Given the description of an element on the screen output the (x, y) to click on. 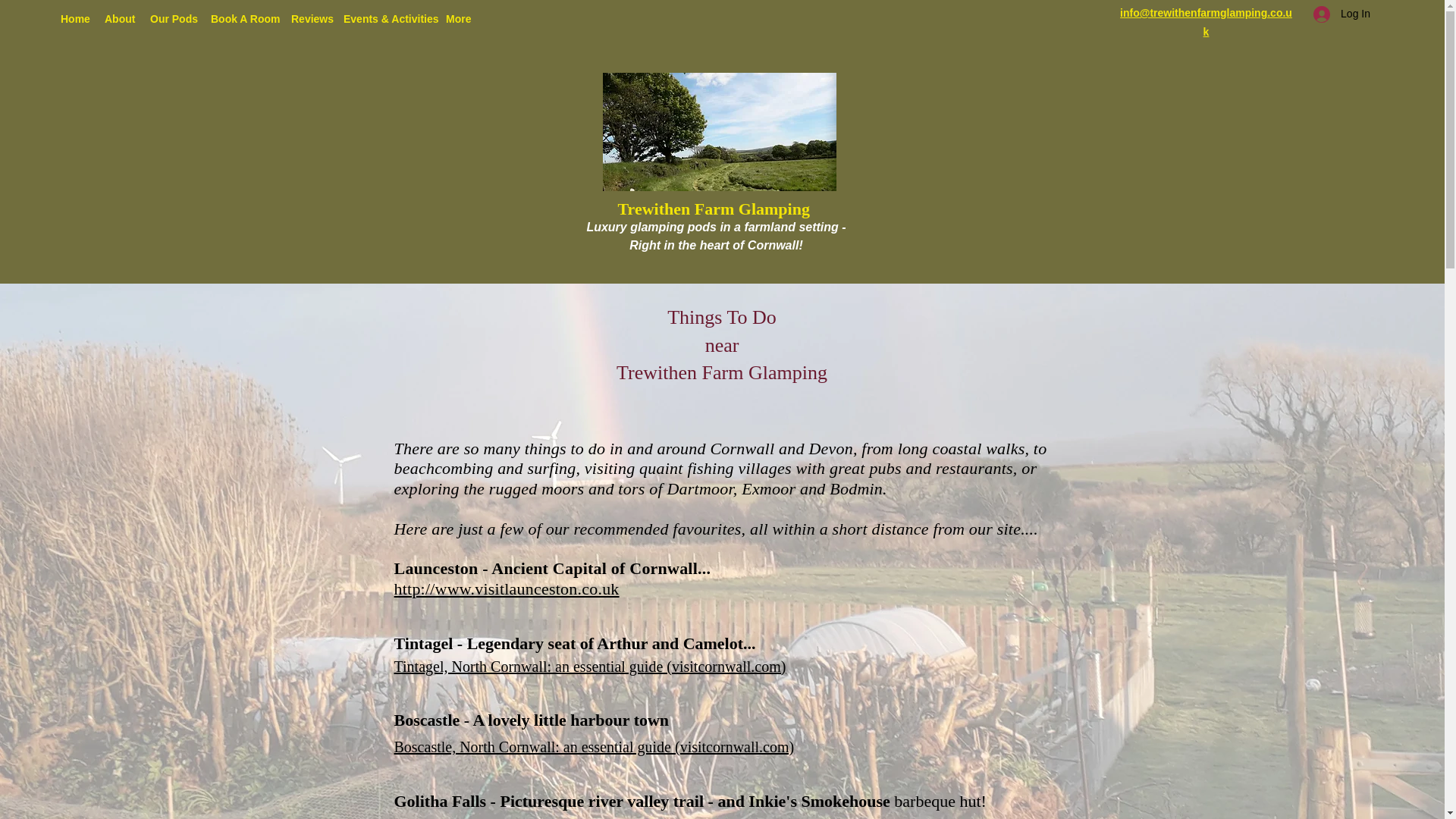
Our Pods (172, 18)
Book A Room (243, 18)
About (119, 18)
Home (74, 18)
Reviews (309, 18)
Log In (1341, 13)
